Given the description of an element on the screen output the (x, y) to click on. 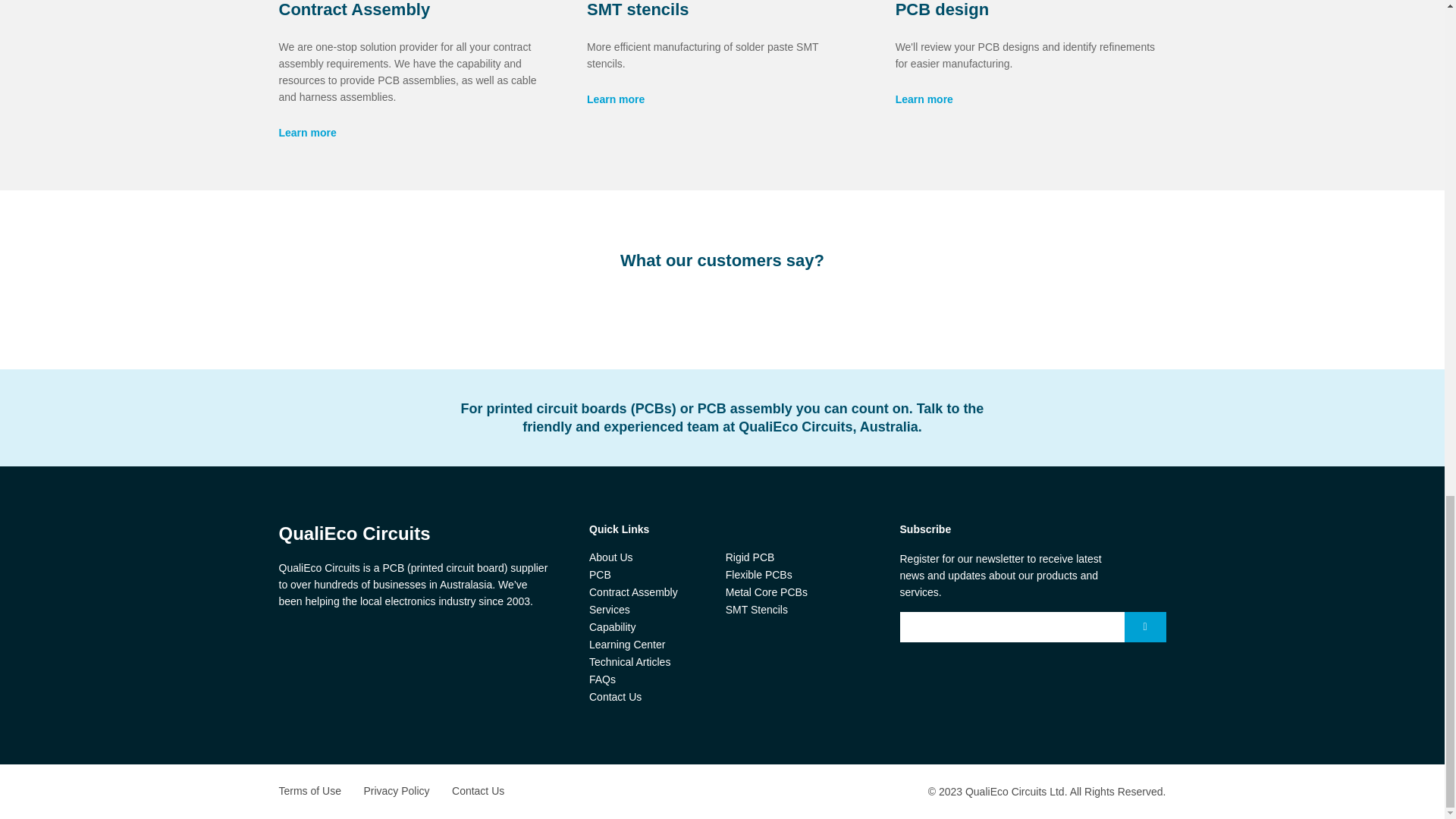
Learn more (615, 99)
PCB (600, 574)
Learn more (924, 99)
About Us (611, 557)
Learn more (307, 132)
